Given the description of an element on the screen output the (x, y) to click on. 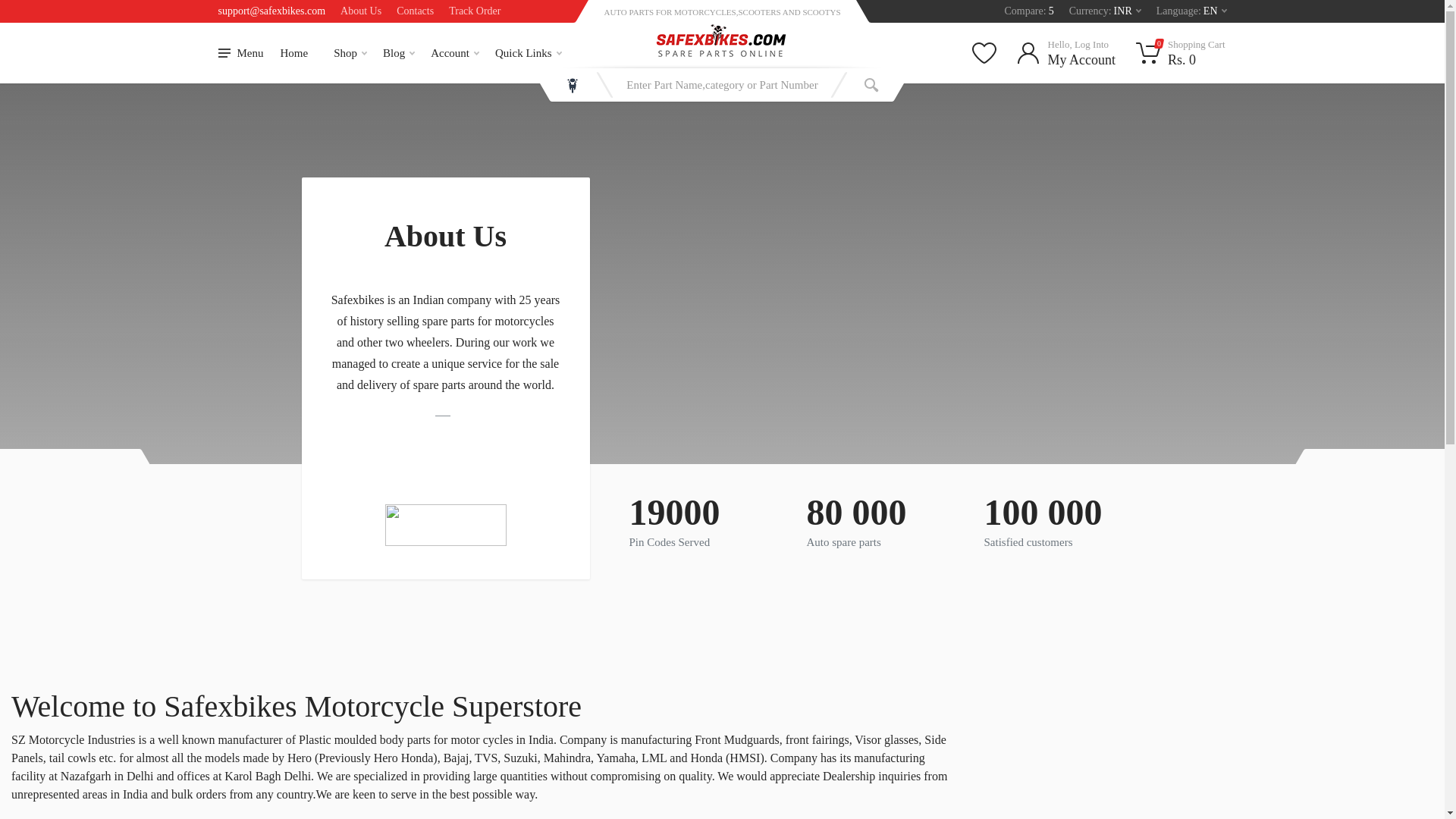
Track Order (474, 10)
About Us (360, 10)
Contacts (1028, 11)
Menu (1191, 11)
